Given the description of an element on the screen output the (x, y) to click on. 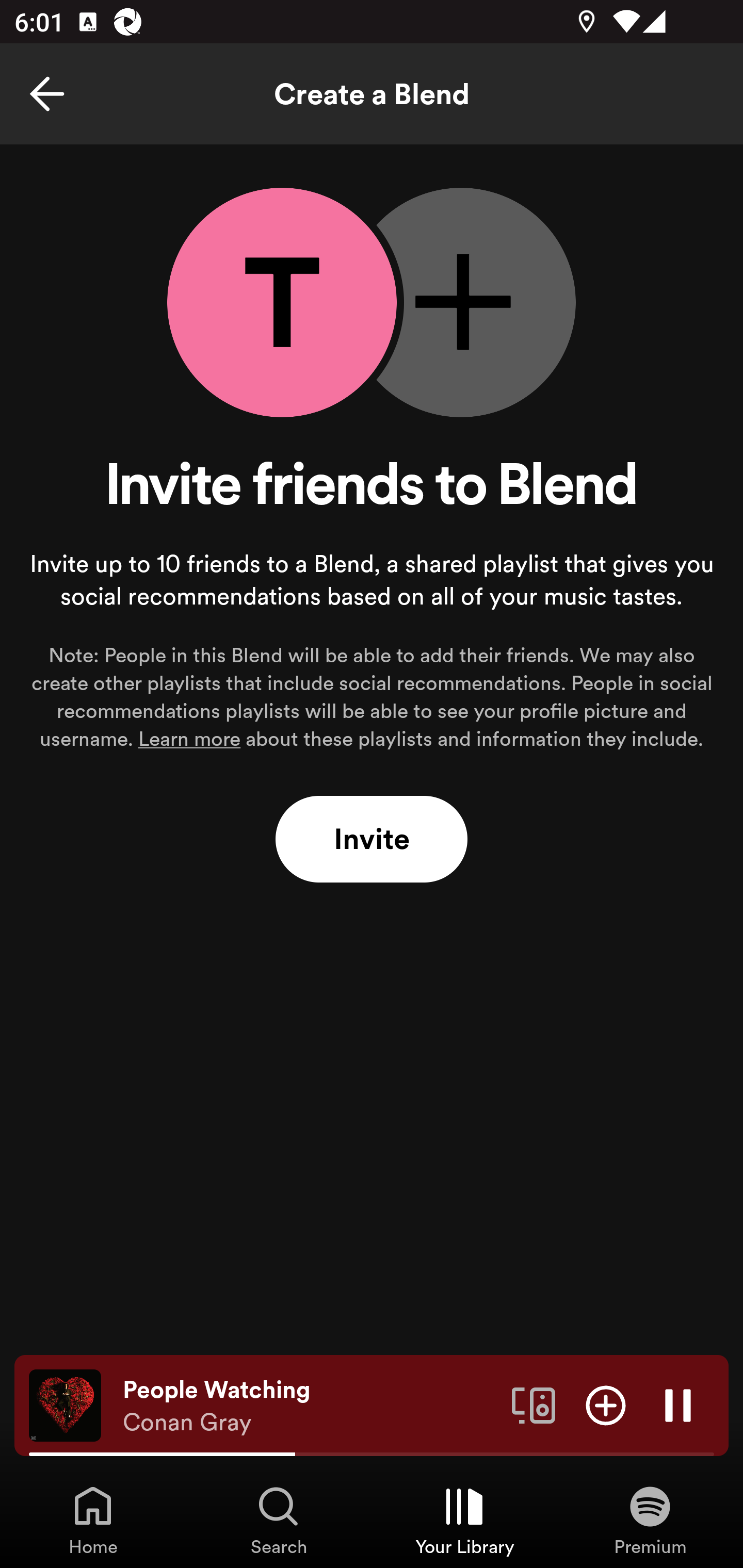
Back (46, 93)
Invite (371, 839)
People Watching Conan Gray (309, 1405)
The cover art of the currently playing track (64, 1404)
Connect to a device. Opens the devices menu (533, 1404)
Add item (605, 1404)
Pause (677, 1404)
Home, Tab 1 of 4 Home Home (92, 1519)
Search, Tab 2 of 4 Search Search (278, 1519)
Your Library, Tab 3 of 4 Your Library Your Library (464, 1519)
Premium, Tab 4 of 4 Premium Premium (650, 1519)
